Given the description of an element on the screen output the (x, y) to click on. 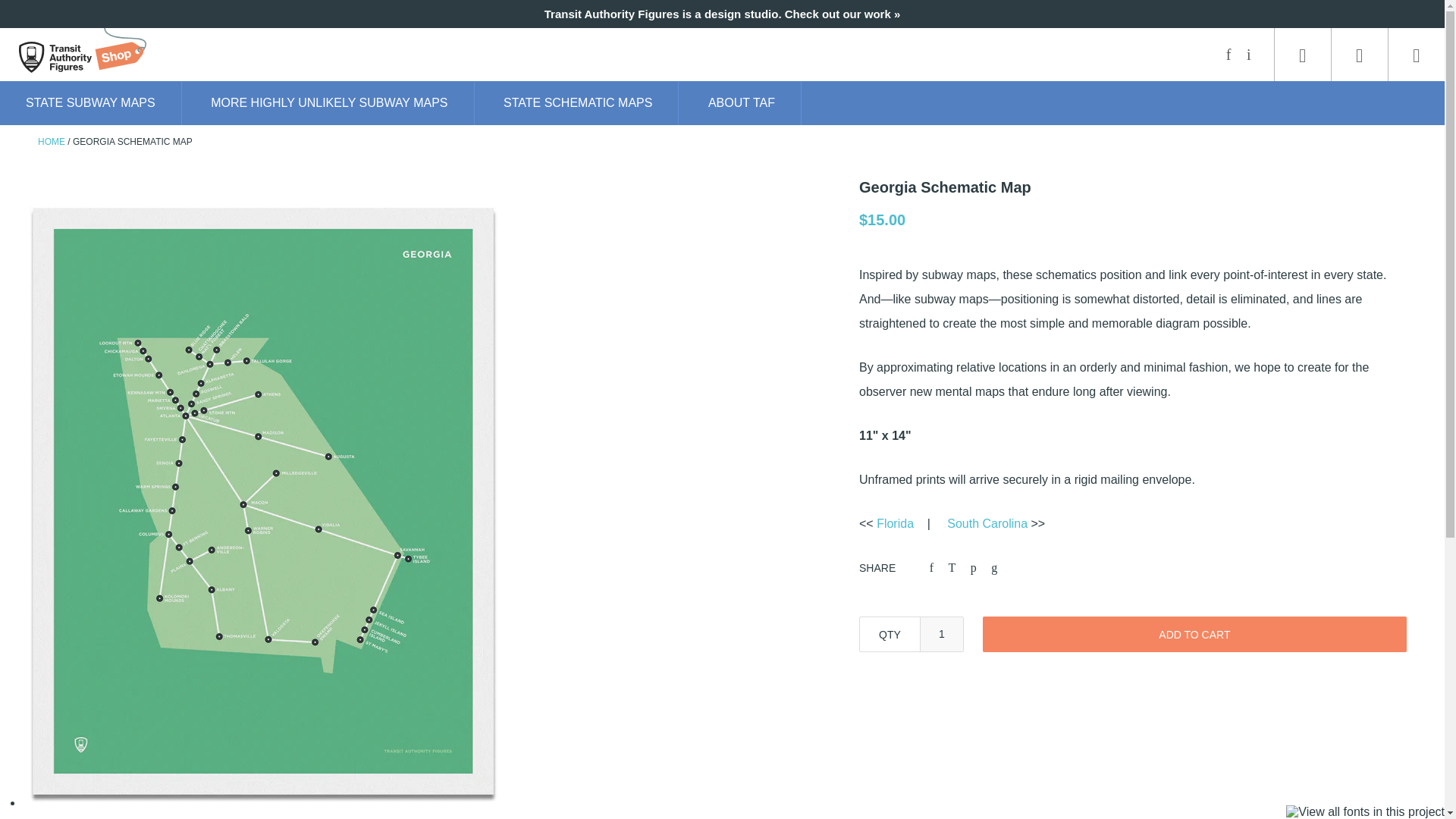
STATE SCHEMATIC MAPS (577, 103)
1 (941, 634)
ABOUT TAF (742, 103)
ADD TO CART (1194, 633)
HOME (51, 141)
MORE HIGHLY UNLIKELY SUBWAY MAPS (329, 103)
STATE SUBWAY MAPS (91, 103)
South Carolina (987, 522)
Florida (895, 522)
